Given the description of an element on the screen output the (x, y) to click on. 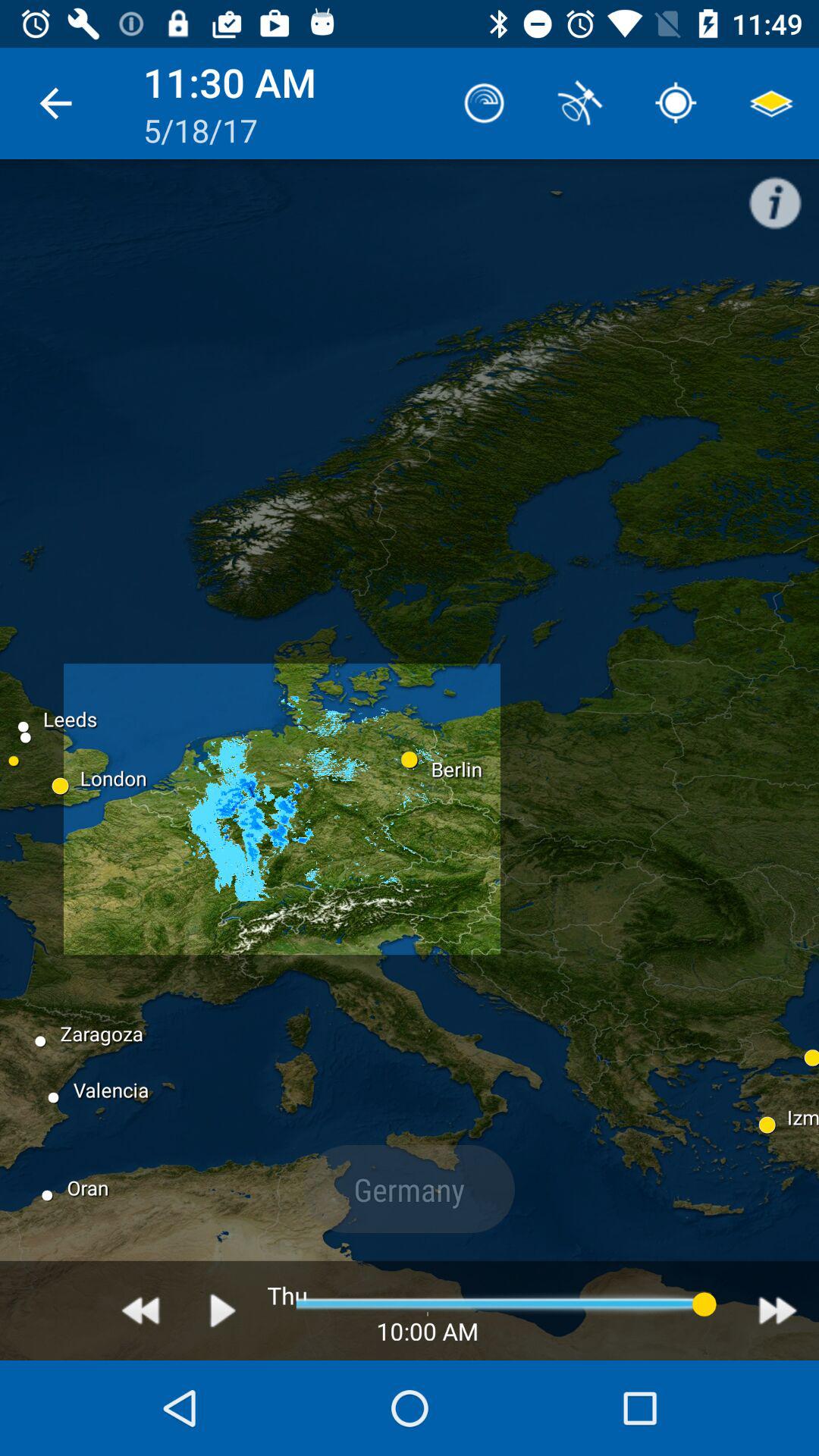
go to next (777, 1310)
